Given the description of an element on the screen output the (x, y) to click on. 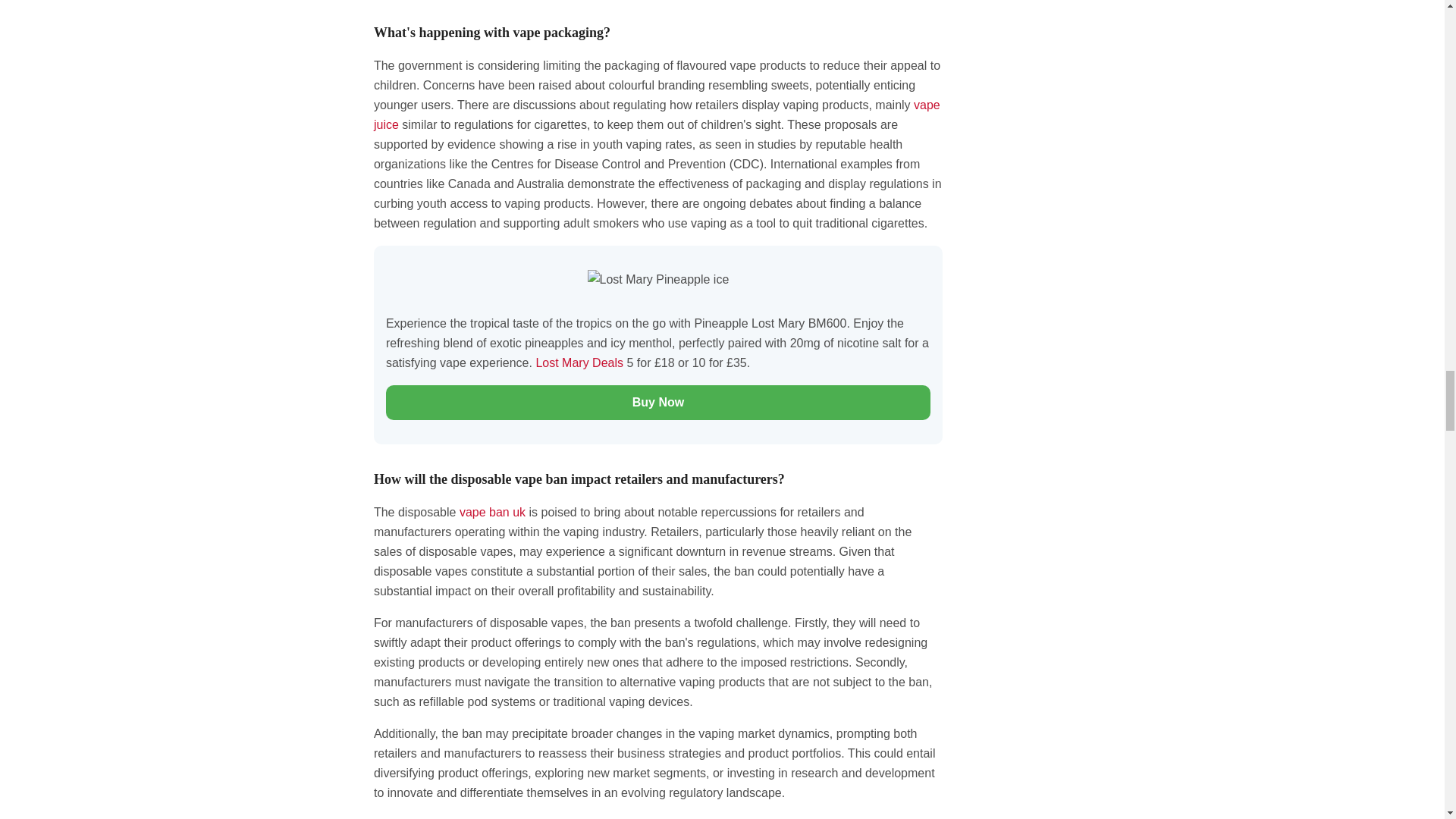
shortfill e-liquids (657, 114)
disposable vape ban (492, 512)
lost mary flavours (580, 362)
